Given the description of an element on the screen output the (x, y) to click on. 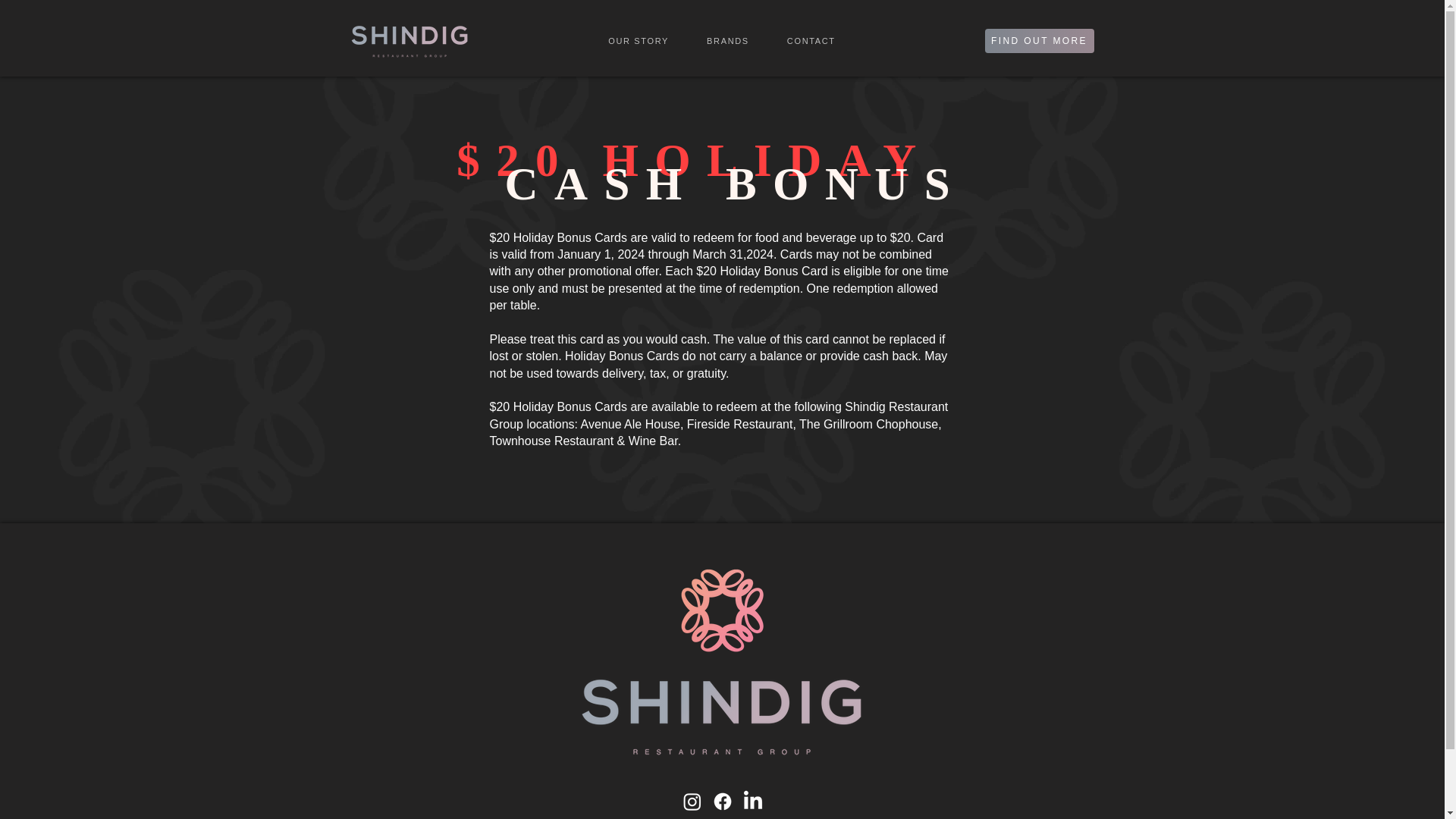
BRANDS (727, 41)
FIND OUT MORE (721, 41)
CONTACT (1038, 40)
OUR STORY (810, 41)
